Given the description of an element on the screen output the (x, y) to click on. 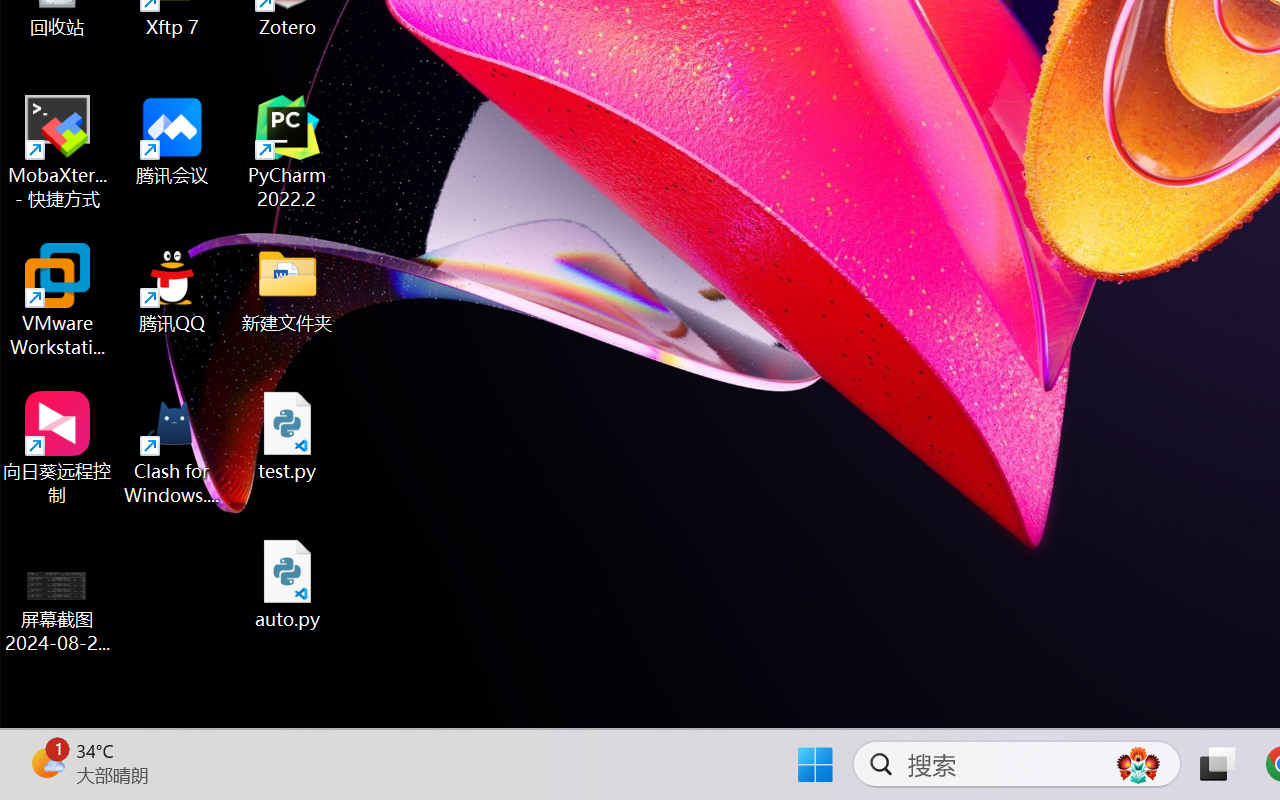
VMware Workstation Pro (57, 300)
